Given the description of an element on the screen output the (x, y) to click on. 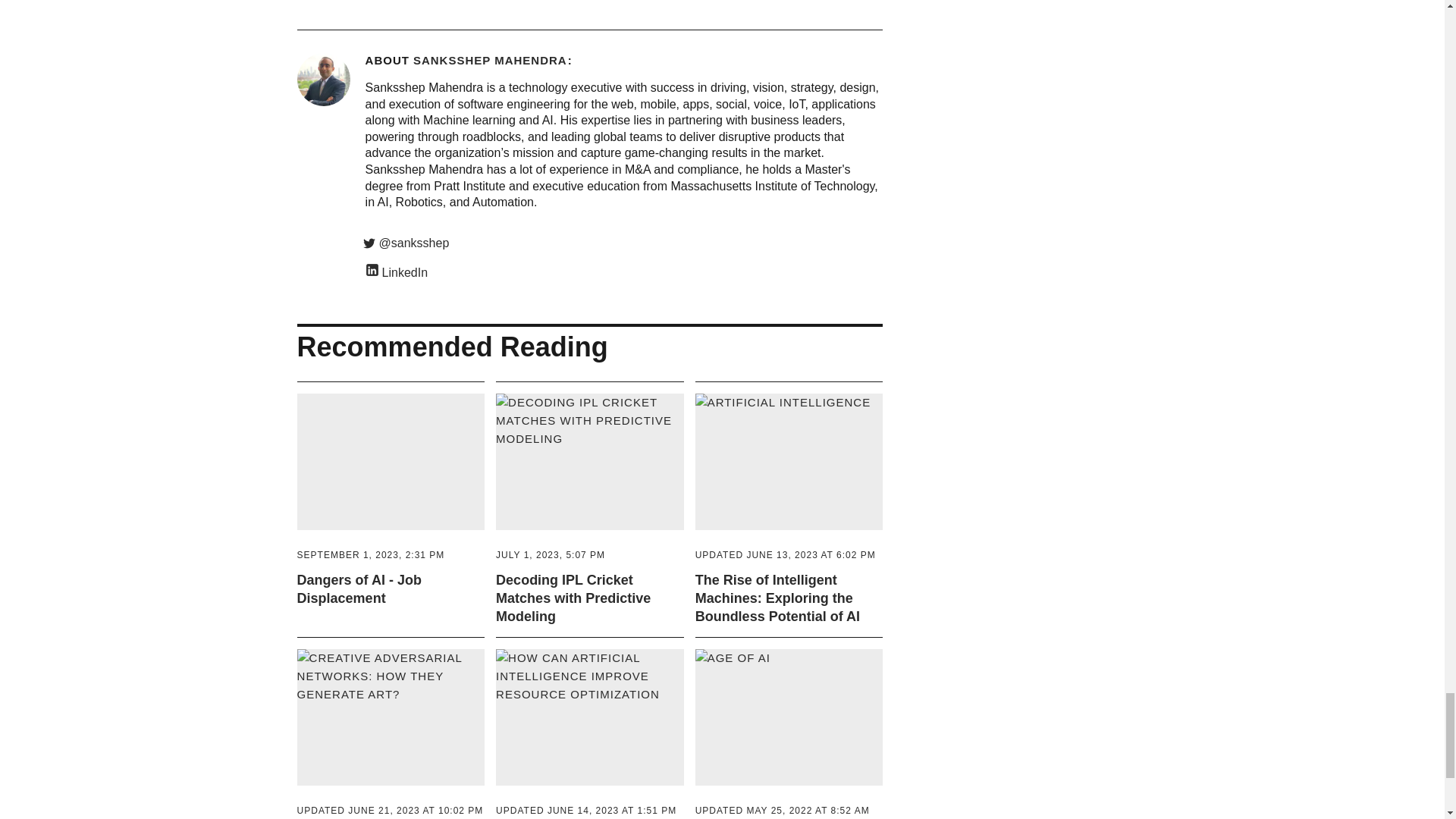
Dangers of AI - Job Displacement (359, 589)
View author Twitter profile (624, 243)
Decoding IPL Cricket Matches with Predictive Modeling (573, 598)
Decoding IPL Cricket Matches with Predictive Modeling (550, 554)
Dangers of AI - Job Displacement (371, 554)
Dangers of AI - Job Displacement (390, 476)
View author LinkedIn profile (624, 271)
Decoding IPL Cricket Matches with Predictive Modeling (590, 476)
